Given the description of an element on the screen output the (x, y) to click on. 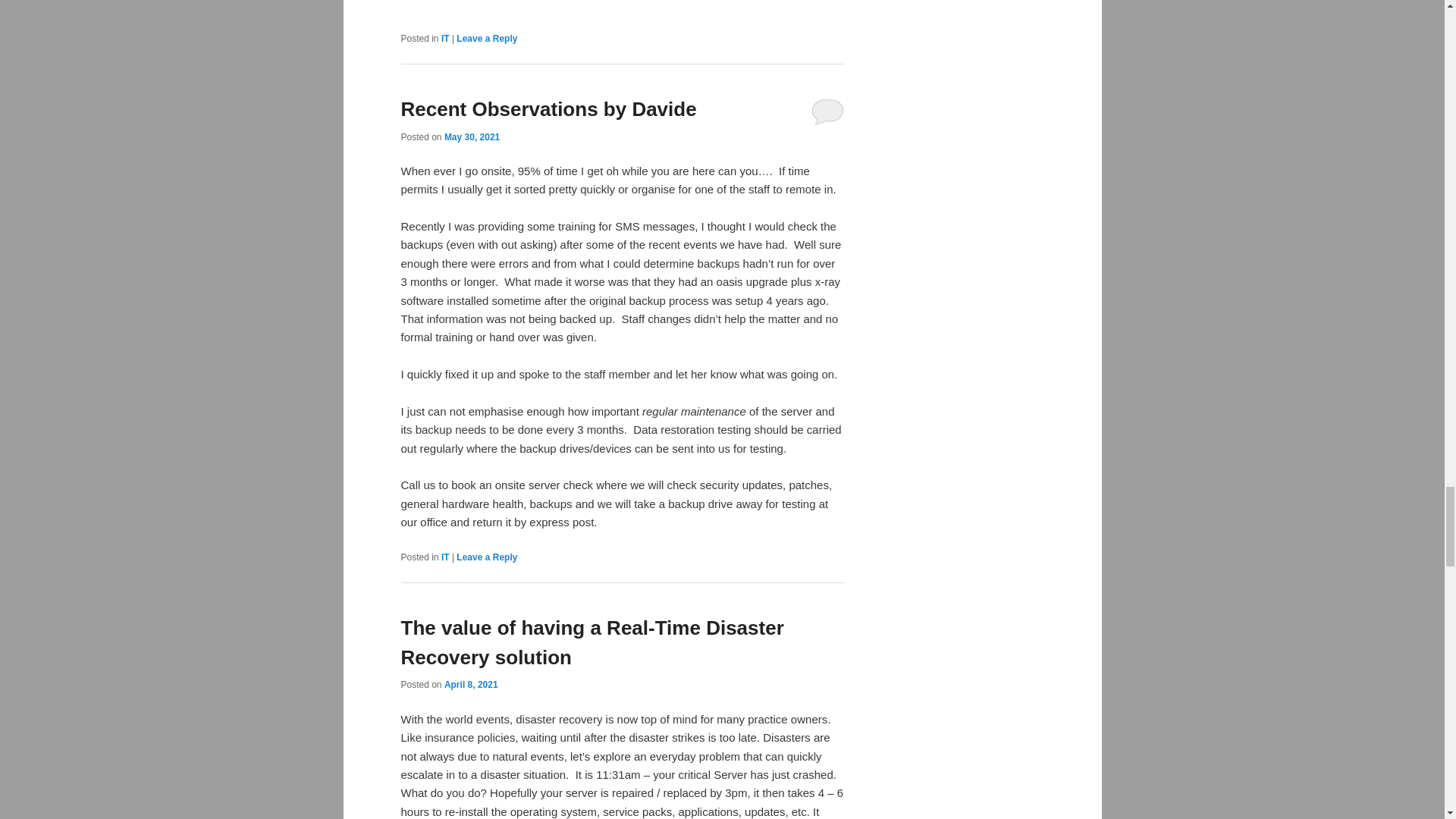
11:07 PM (471, 136)
6:11 PM (470, 684)
